Given the description of an element on the screen output the (x, y) to click on. 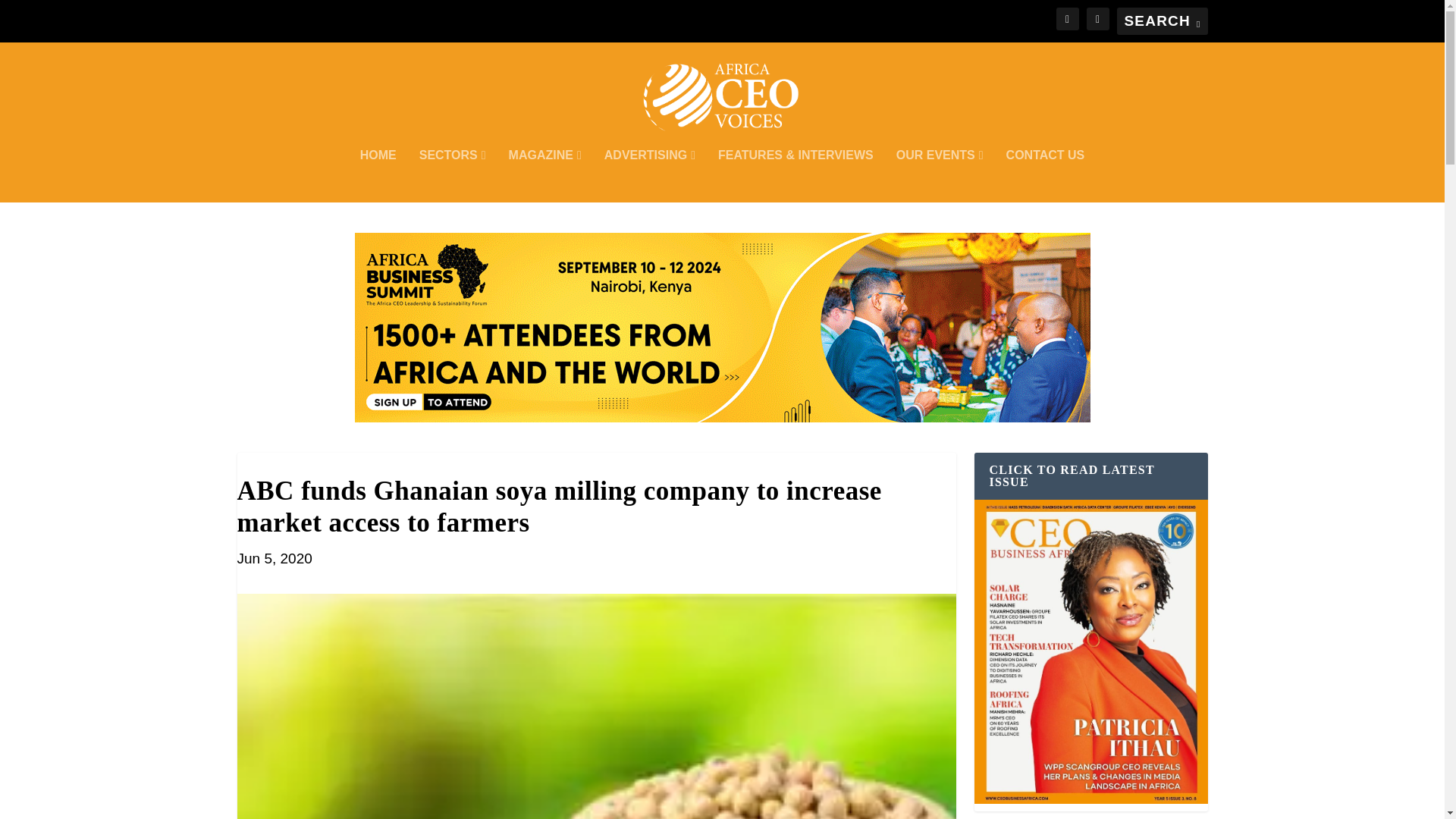
SECTORS (452, 175)
Search for: (1161, 21)
ADVERTISING (649, 175)
OUR EVENTS (940, 175)
CONTACT US (1045, 175)
MAGAZINE (544, 175)
